Given the description of an element on the screen output the (x, y) to click on. 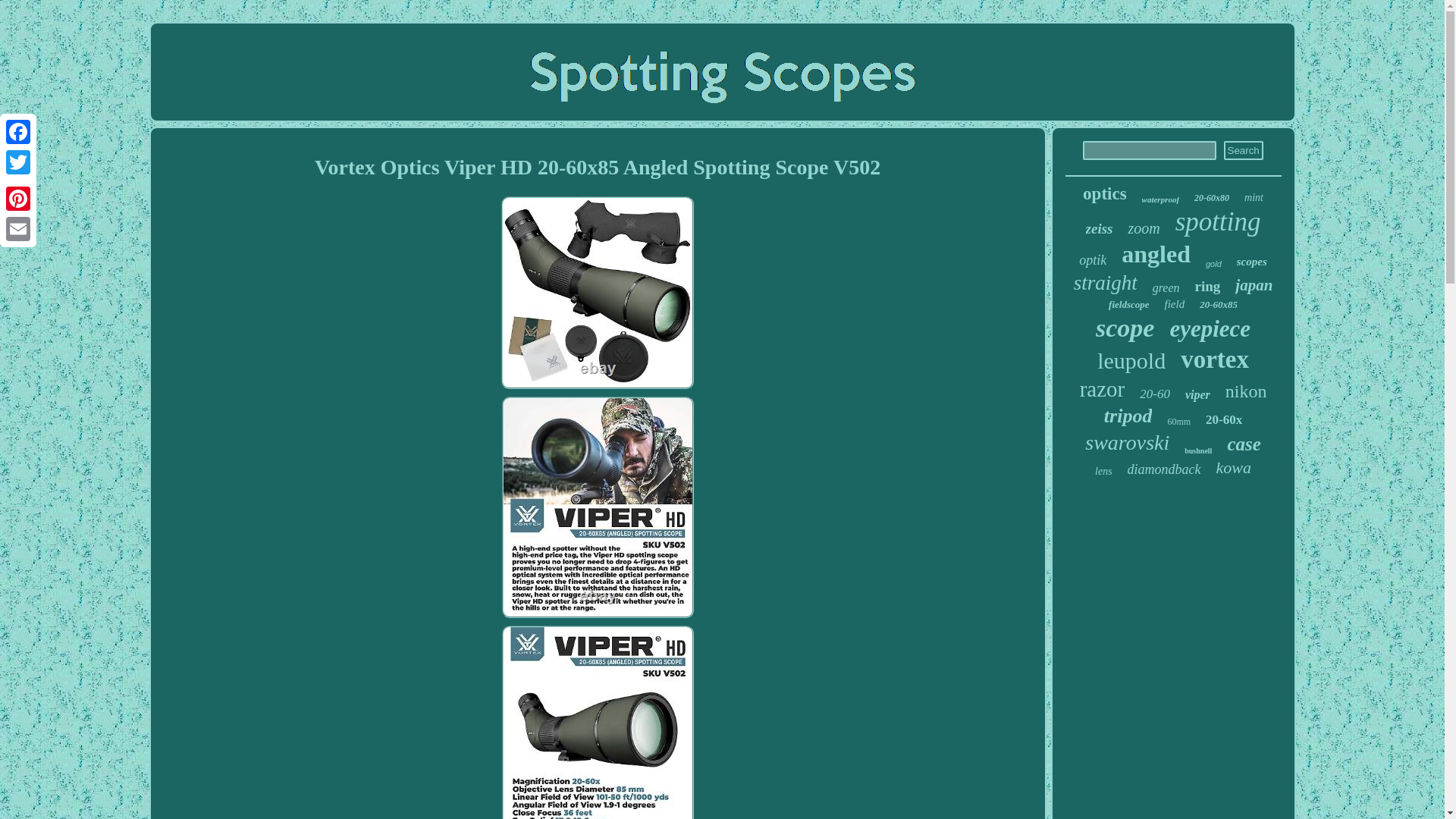
mint (1253, 197)
scopes (1251, 261)
gold (1213, 263)
ring (1208, 286)
optics (1104, 193)
Vortex Optics Viper HD 20-60x85 Angled Spotting Scope V502 (597, 291)
fieldscope (1128, 304)
angled (1156, 254)
straight (1105, 282)
Search (1243, 149)
20-60x80 (1210, 197)
zeiss (1099, 228)
Search (1243, 149)
green (1166, 287)
Pinterest (17, 198)
